Given the description of an element on the screen output the (x, y) to click on. 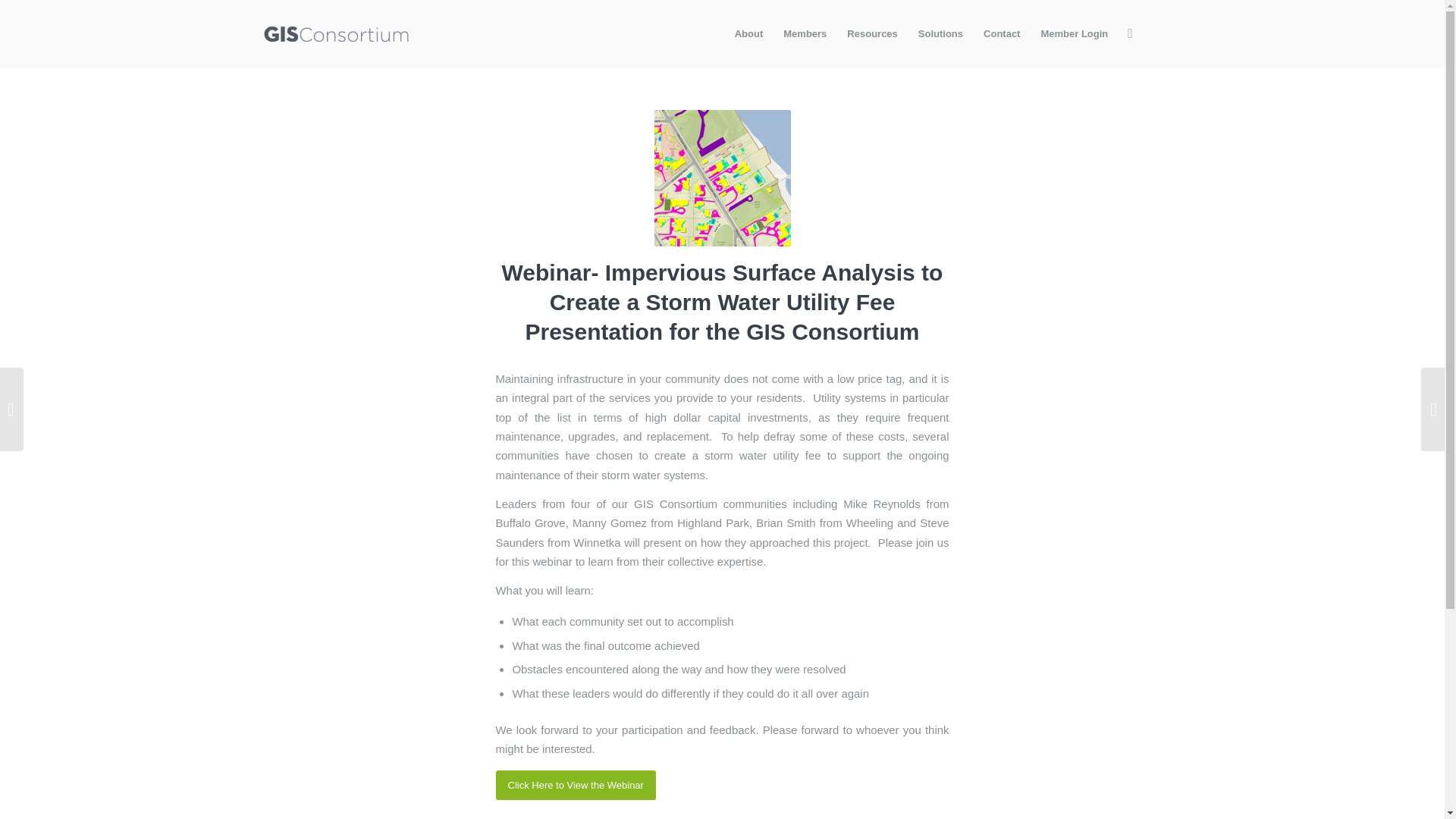
Click Here to View the Webinar (576, 785)
Resources (871, 33)
Members (804, 33)
Impervious Surface Analysis (721, 177)
Member Login (1073, 33)
Solutions (939, 33)
